Given the description of an element on the screen output the (x, y) to click on. 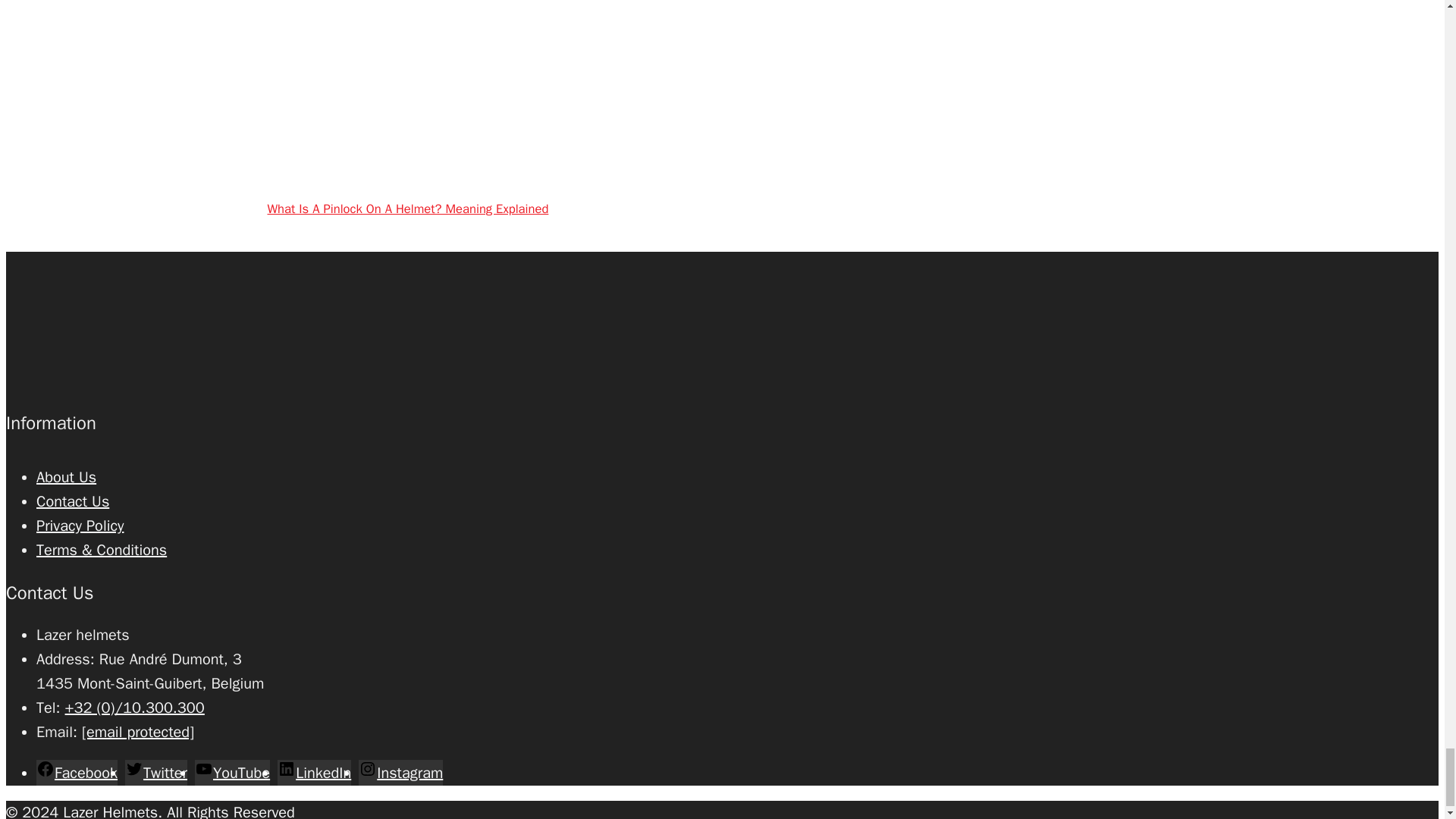
What Is A Pinlock On A Helmet? Meaning Explained (607, 162)
